Given the description of an element on the screen output the (x, y) to click on. 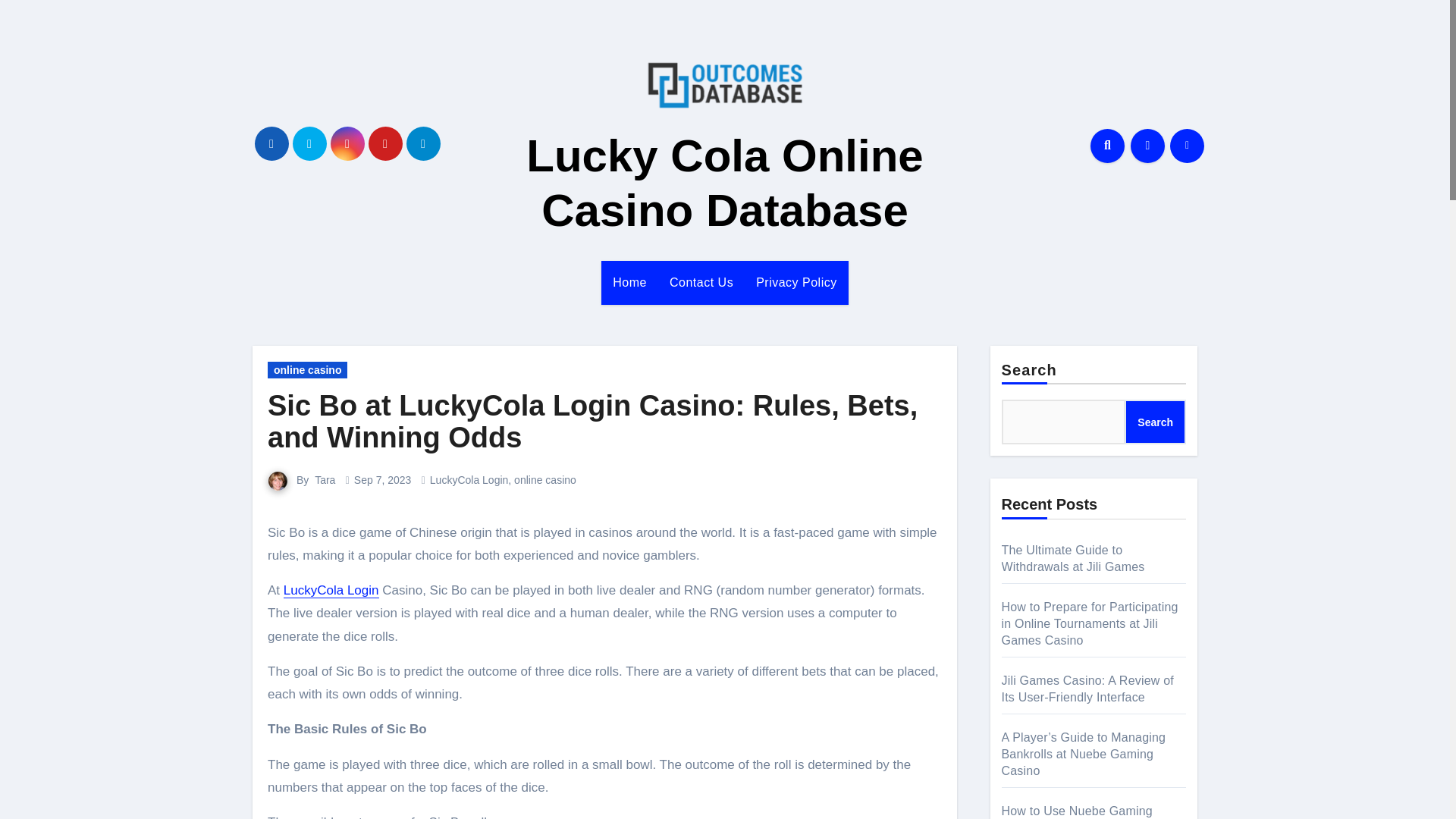
Home (629, 282)
online casino (544, 480)
Lucky Cola Online Casino Database (724, 182)
Contact Us (701, 282)
Contact Us (701, 282)
online casino (307, 369)
Privacy Policy (796, 282)
Tara (324, 480)
LuckyCola Login (468, 480)
